Given the description of an element on the screen output the (x, y) to click on. 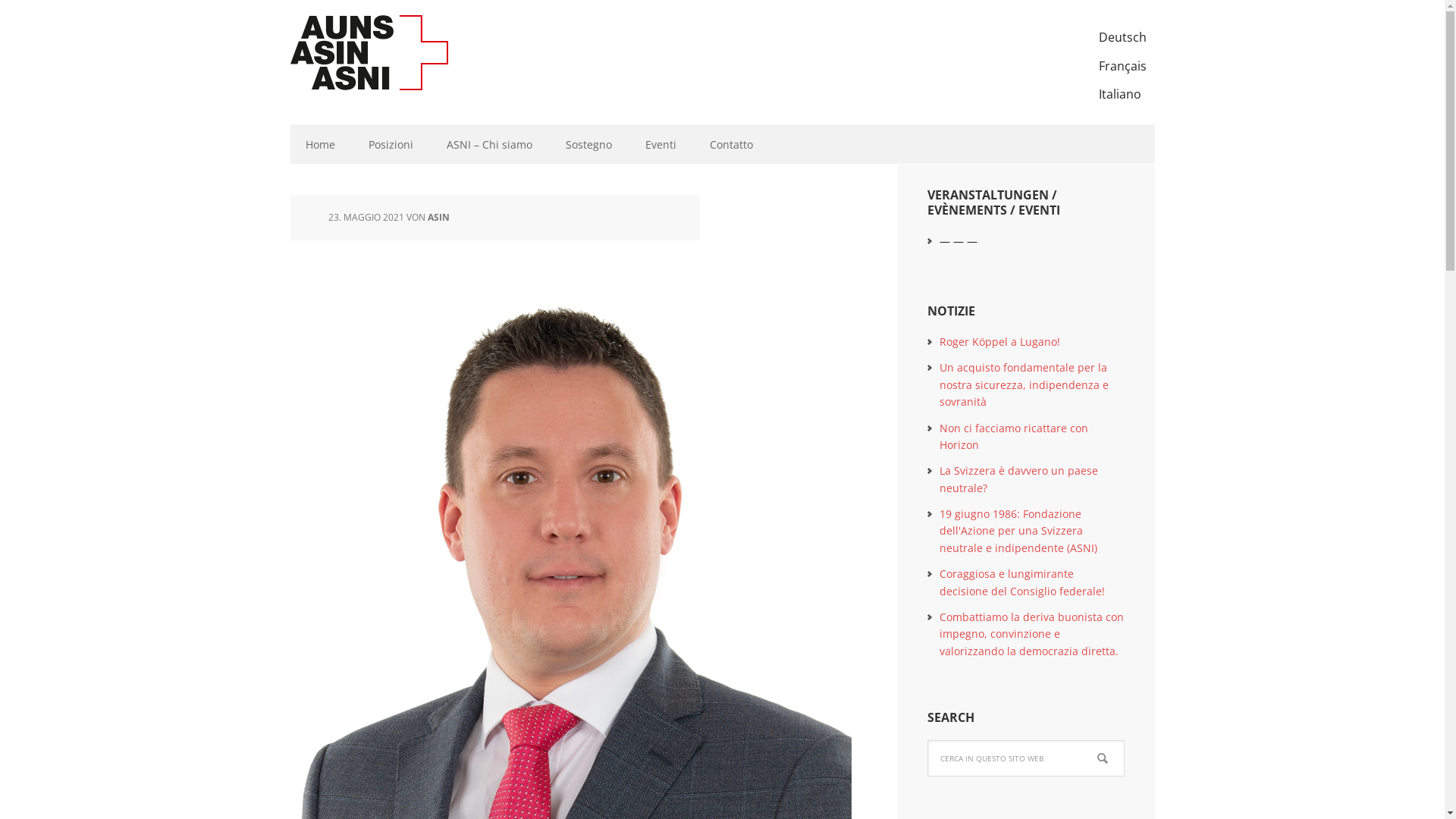
Non ci facciamo ricattare con Horizon Element type: text (1012, 435)
AUNS Element type: text (387, 53)
Deutsch Element type: text (1121, 37)
ASIN Element type: text (438, 216)
Coraggiosa e lungimirante decisione del Consiglio federale! Element type: text (1021, 581)
Contatto Element type: text (731, 144)
Eventi Element type: text (659, 144)
Posizioni Element type: text (390, 144)
Italiano Element type: text (1121, 94)
Cerca Element type: text (1123, 739)
Home Element type: text (319, 144)
Sostegno Element type: text (588, 144)
